Given the description of an element on the screen output the (x, y) to click on. 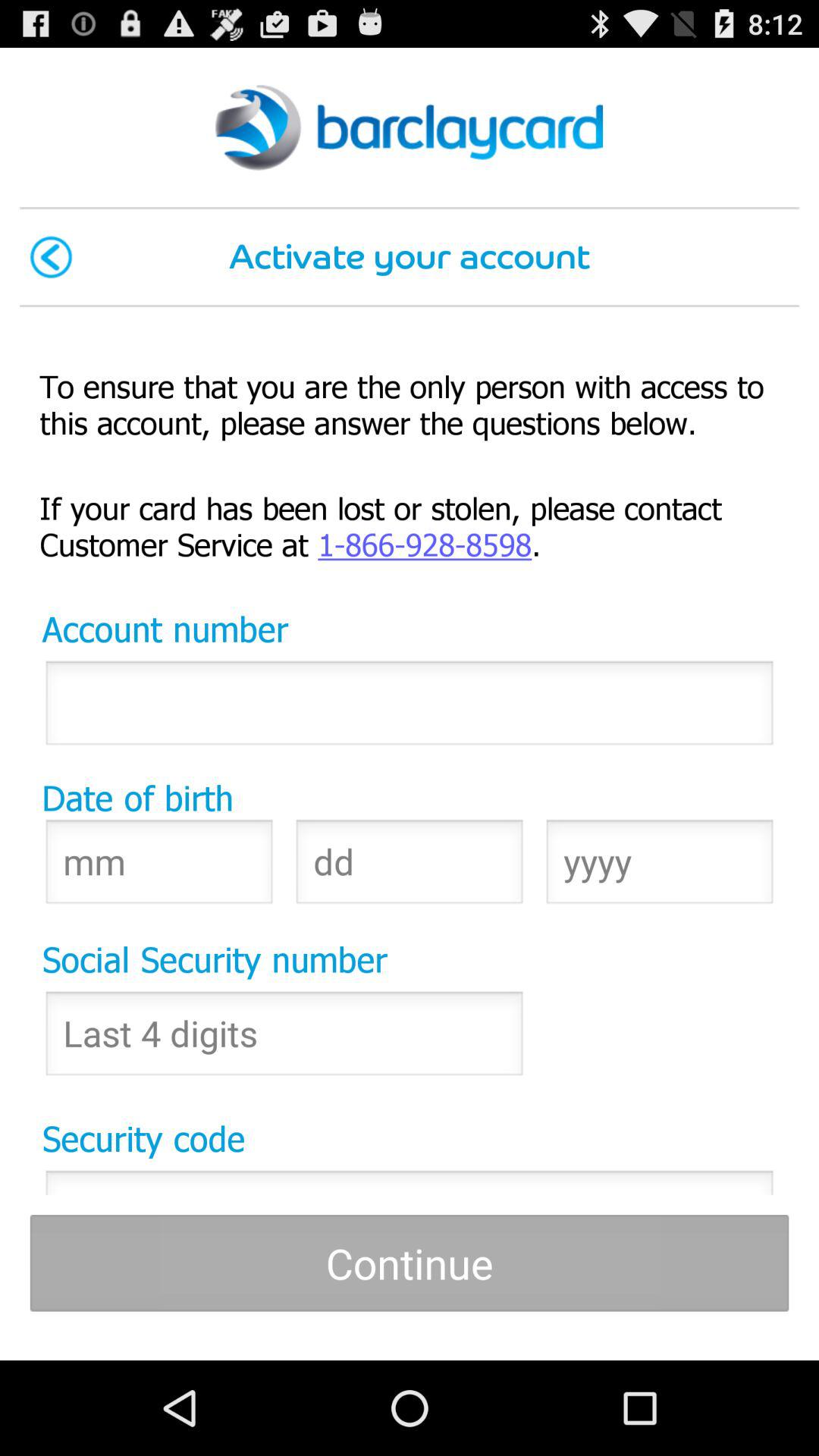
select item below the to ensure that item (409, 525)
